Given the description of an element on the screen output the (x, y) to click on. 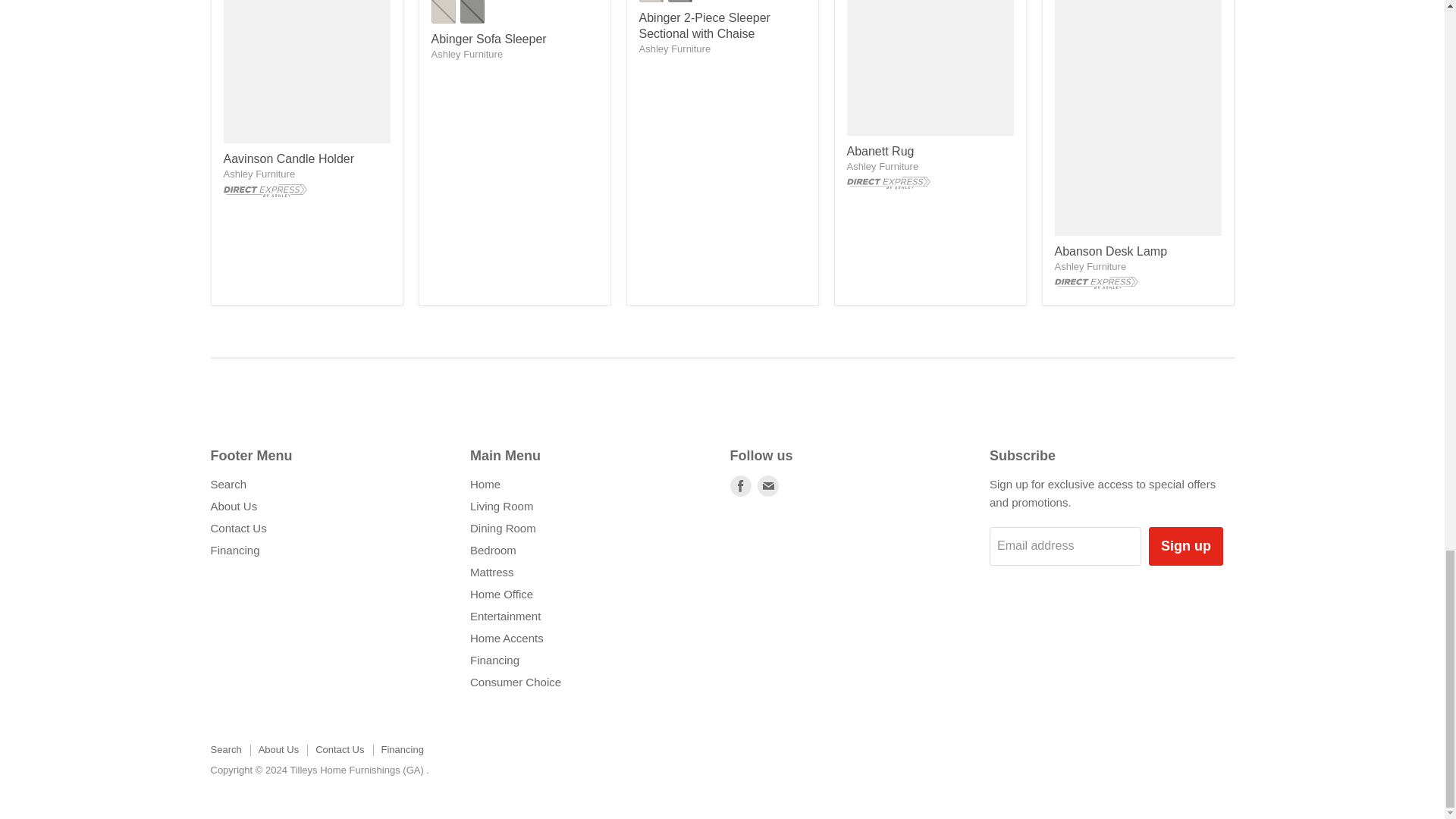
Ashley Furniture (258, 173)
Ashley Furniture (674, 48)
E-mail (767, 485)
Ashley Furniture (466, 53)
Ashley Furniture (1089, 266)
Facebook (740, 485)
Ashley Furniture (881, 165)
